Given the description of an element on the screen output the (x, y) to click on. 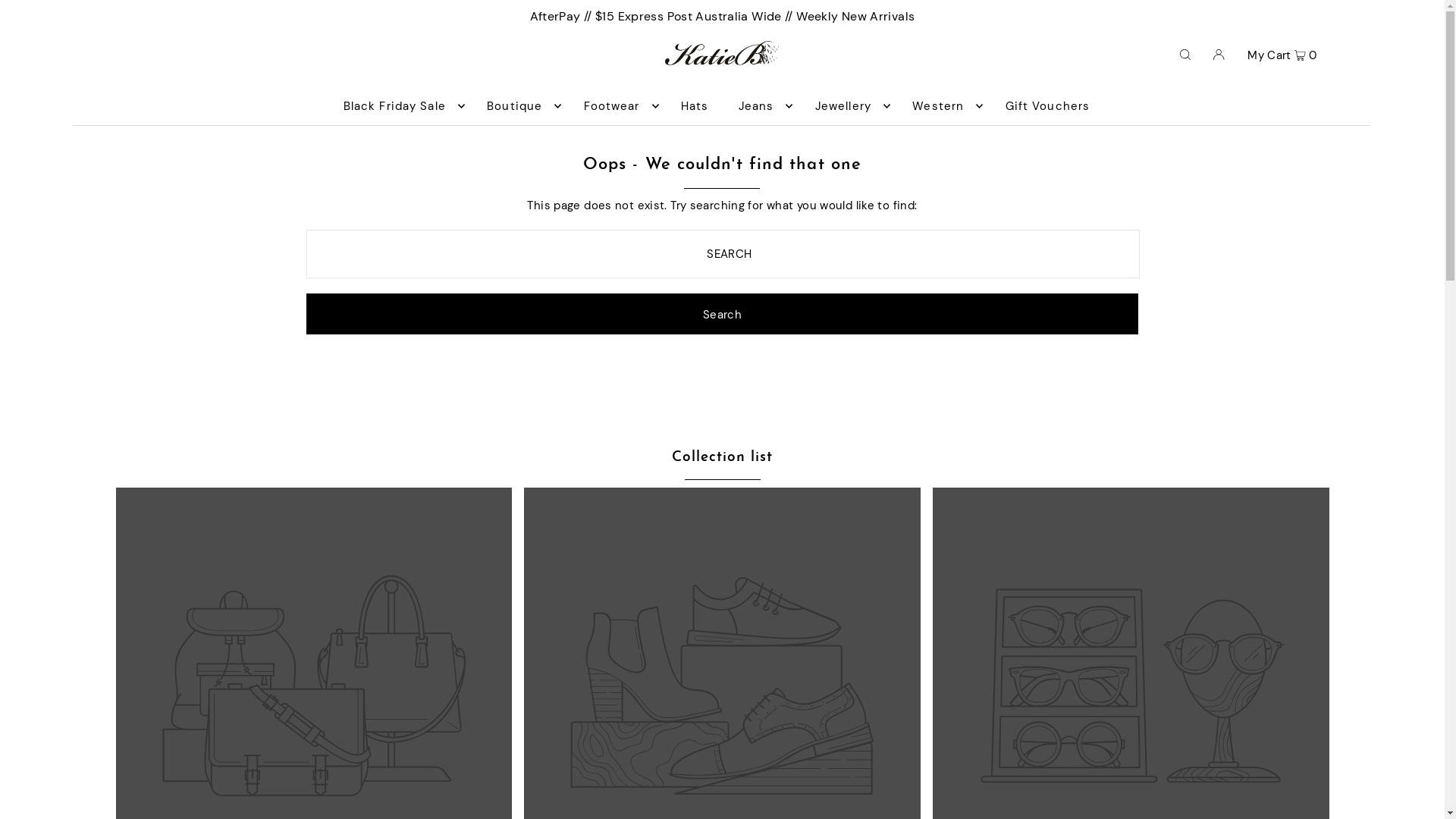
Gift Vouchers Element type: text (1047, 106)
Jewellery Element type: text (848, 106)
Search Element type: text (722, 313)
Jeans Element type: text (762, 106)
Footwear Element type: text (617, 106)
Black Friday Sale Element type: text (399, 106)
Boutique Element type: text (520, 106)
Hats Element type: text (694, 106)
Western Element type: text (943, 106)
